Given the description of an element on the screen output the (x, y) to click on. 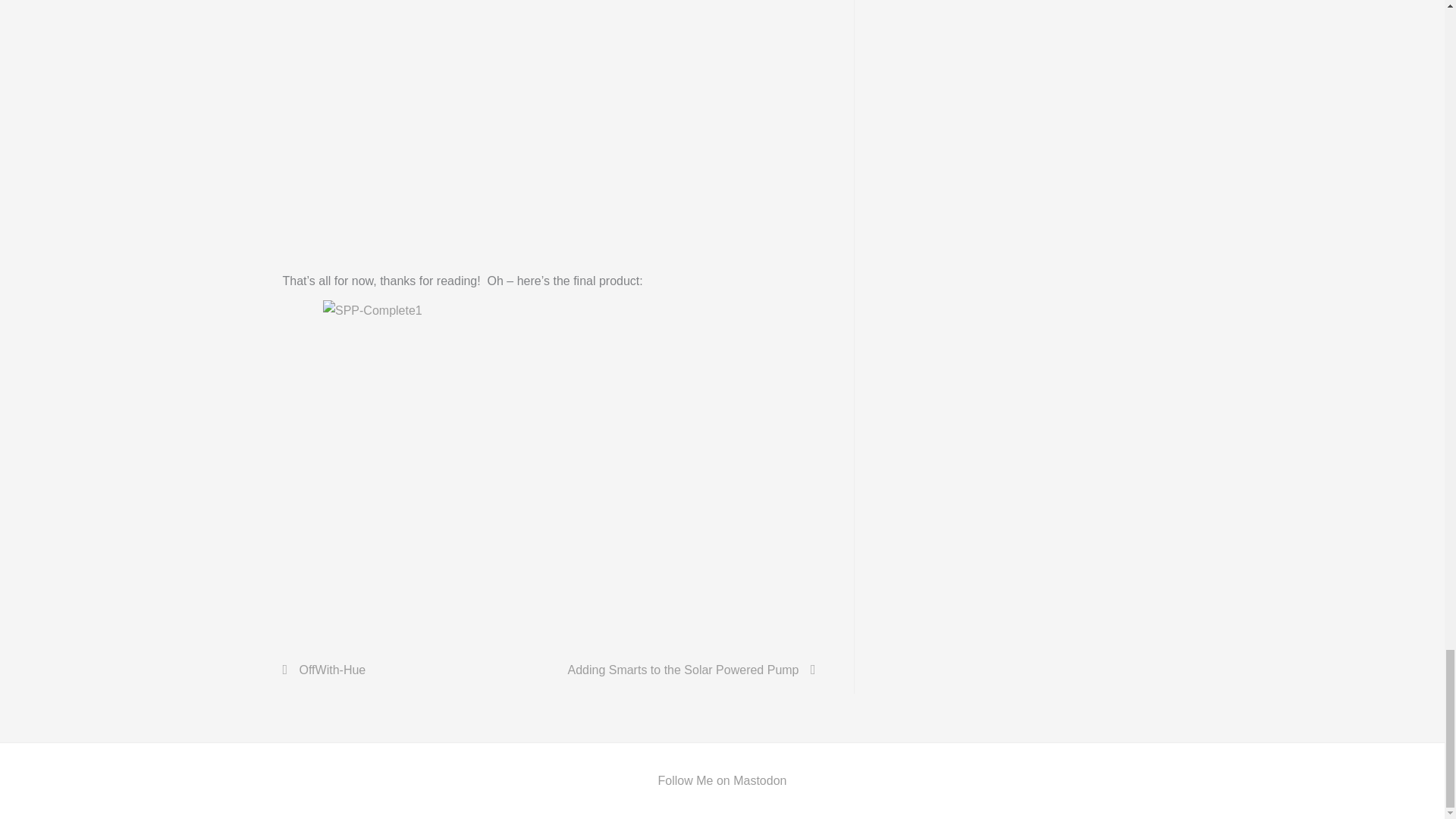
OffWith-Hue (324, 670)
Adding Smarts to the Solar Powered Pump (690, 670)
Follow Me on Mastodon (722, 780)
